Given the description of an element on the screen output the (x, y) to click on. 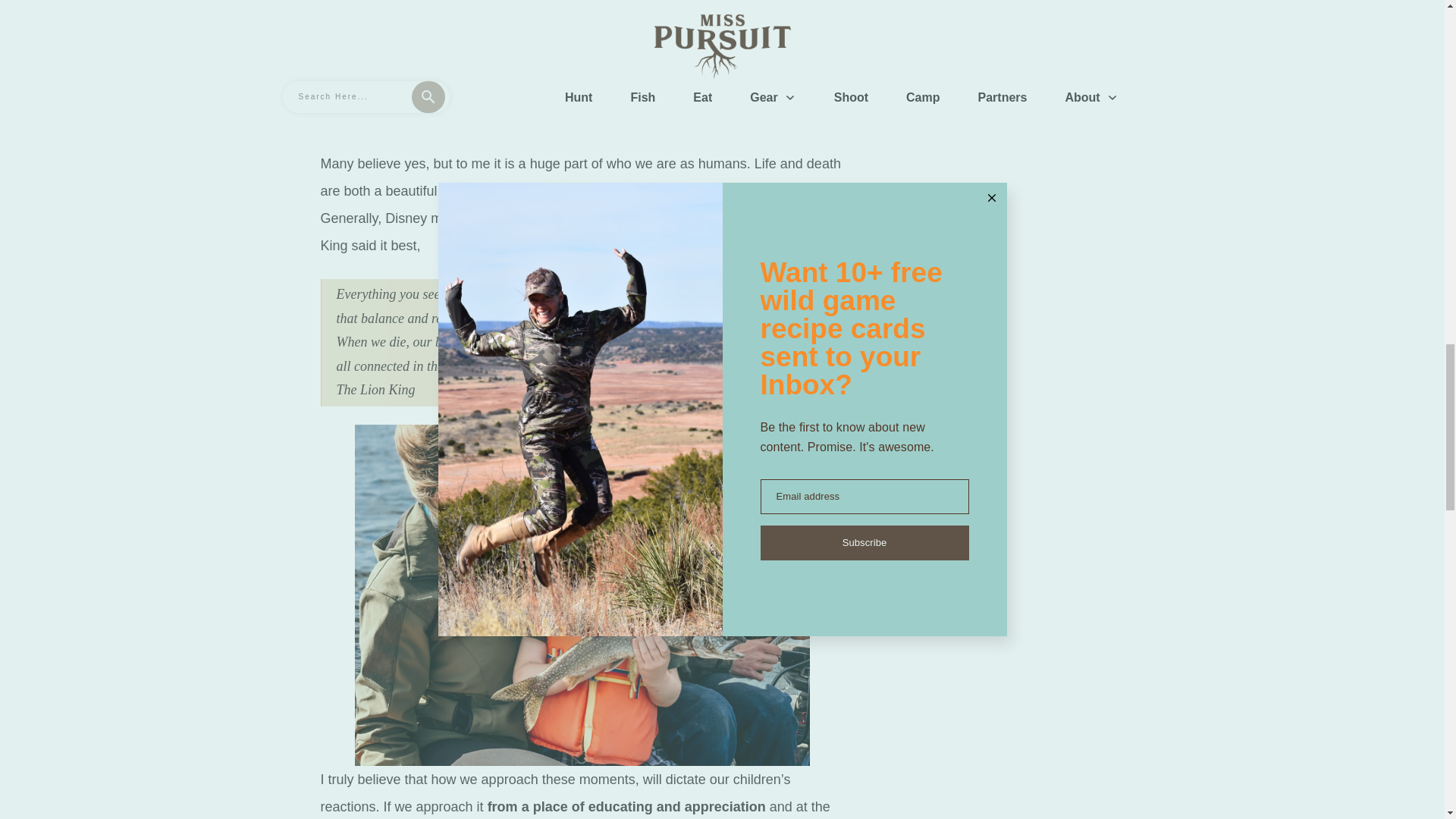
Looking for amazing quotes on hunting? (582, 24)
